Given the description of an element on the screen output the (x, y) to click on. 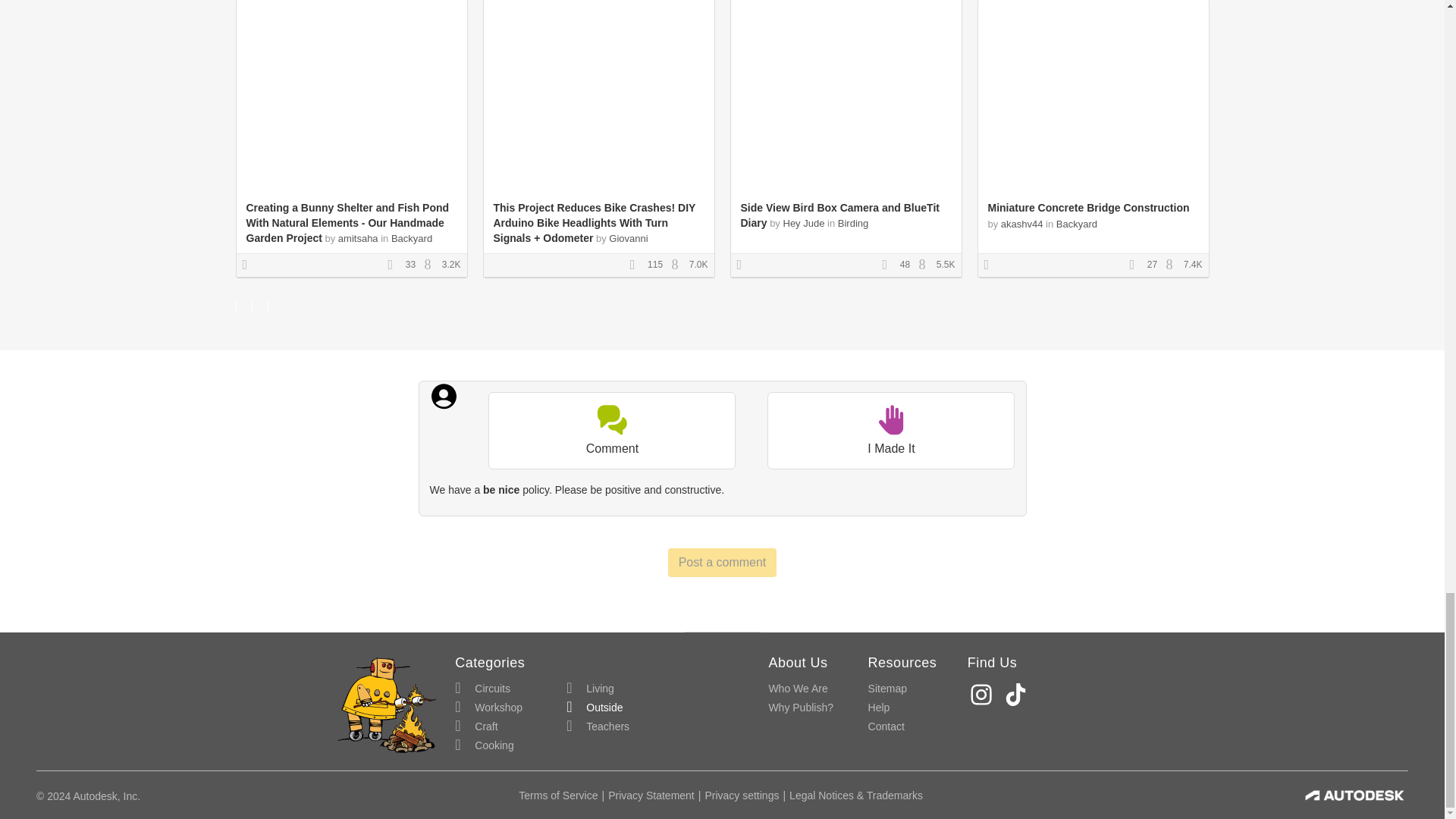
Giovanni Aggiustatutto (570, 246)
Views Count (678, 265)
Views Count (925, 265)
akashv44 (1022, 224)
Views Count (431, 265)
Contest Winner (744, 265)
amitsaha (357, 238)
Instagram (983, 694)
Favorites Count (889, 265)
Backyard (411, 238)
Miniature Concrete Bridge Construction (1088, 207)
TikTok (1018, 694)
Contest Winner (991, 265)
Favorites Count (1136, 265)
Contest Winner (250, 265)
